Given the description of an element on the screen output the (x, y) to click on. 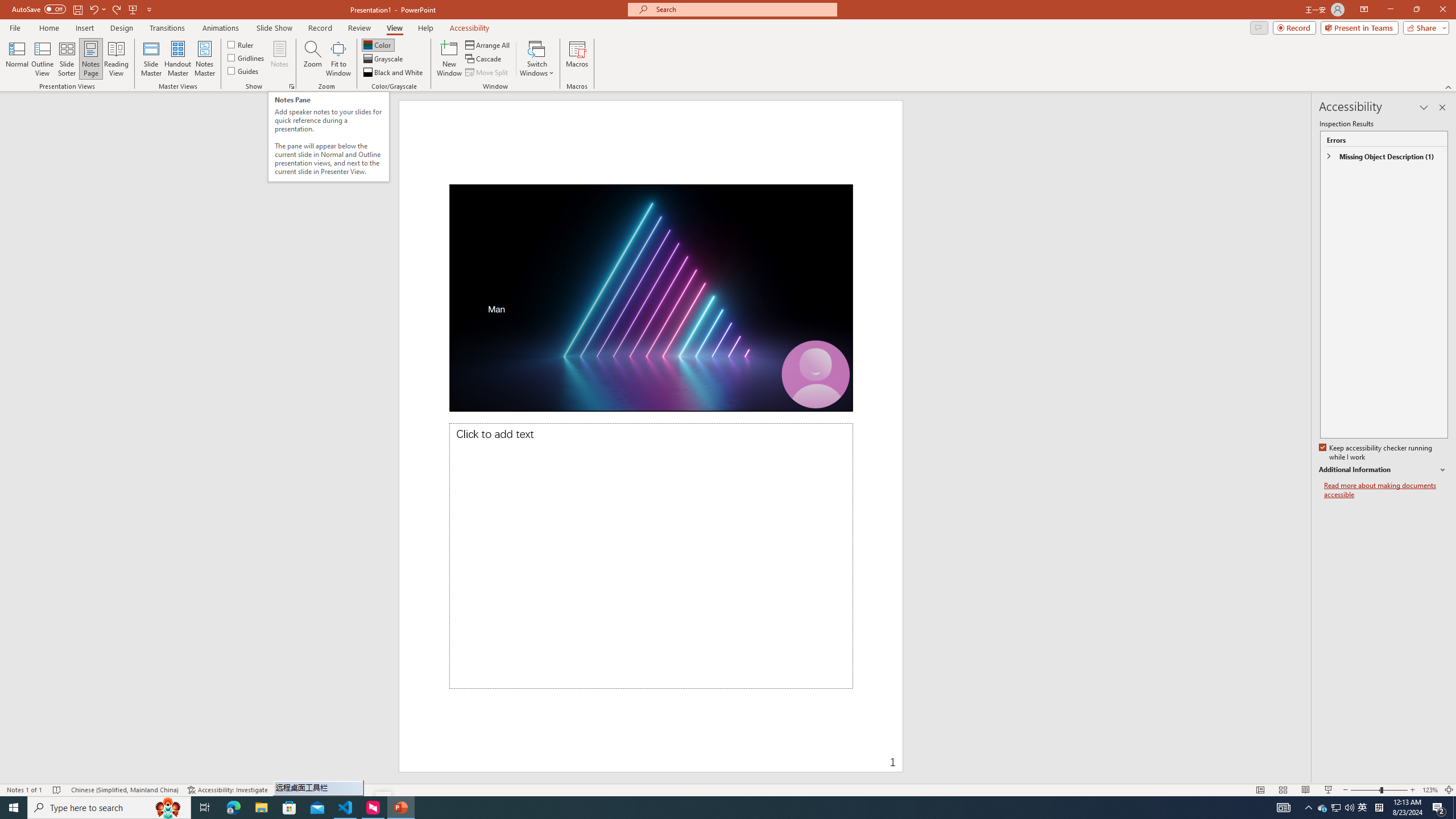
Zoom 123% (1430, 790)
Zoom... (312, 58)
Fit to Window (338, 58)
Color (377, 44)
Arrange All (488, 44)
Handout Master (177, 58)
Page Number (793, 754)
Cascade (484, 58)
